Given the description of an element on the screen output the (x, y) to click on. 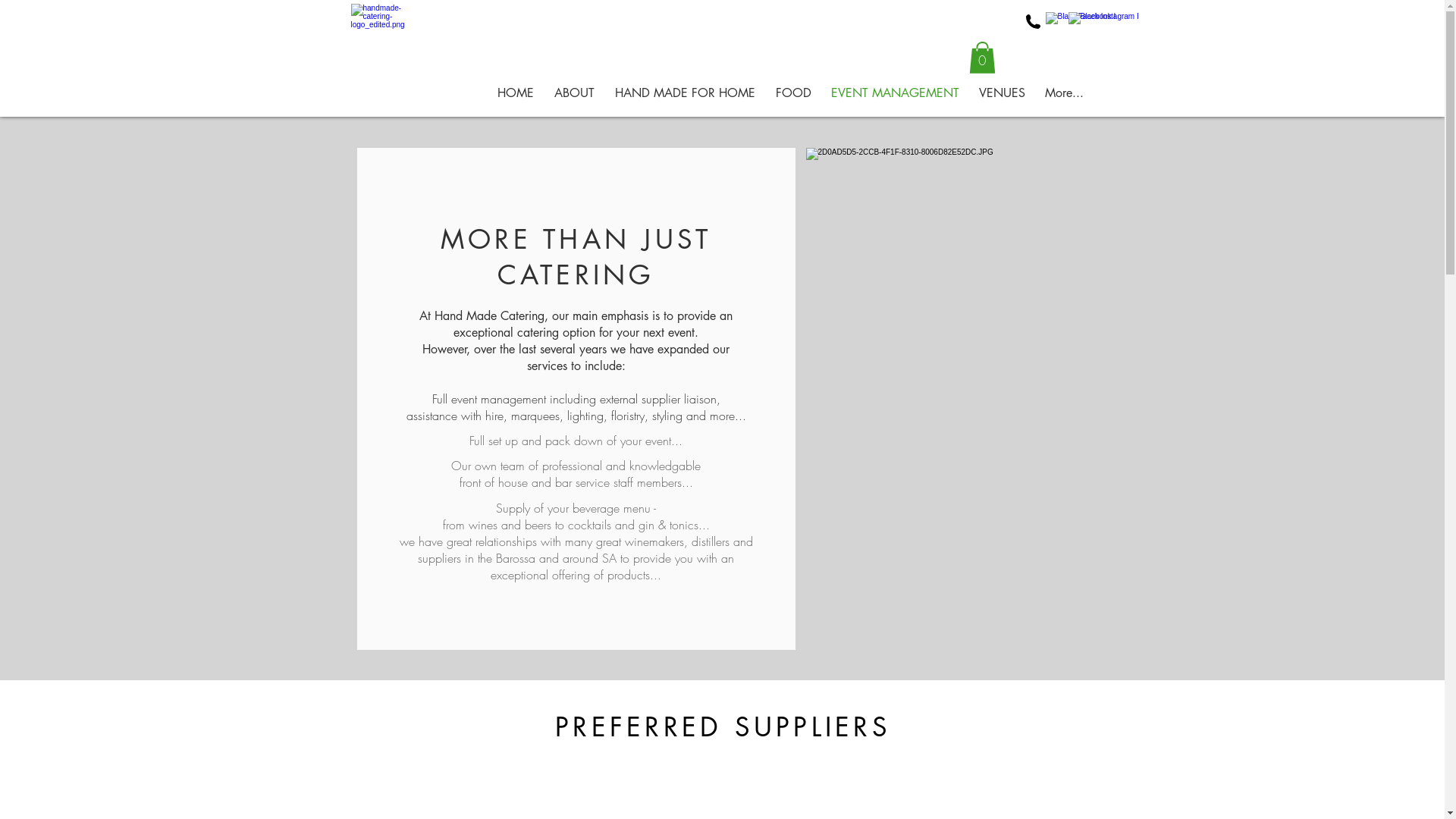
HOME Element type: text (514, 93)
ABOUT Element type: text (574, 93)
HAND MADE FOR HOME Element type: text (685, 93)
0 Element type: text (982, 57)
EVENT MANAGEMENT Element type: text (894, 93)
FOOD Element type: text (793, 93)
VENUES Element type: text (1002, 93)
